Given the description of an element on the screen output the (x, y) to click on. 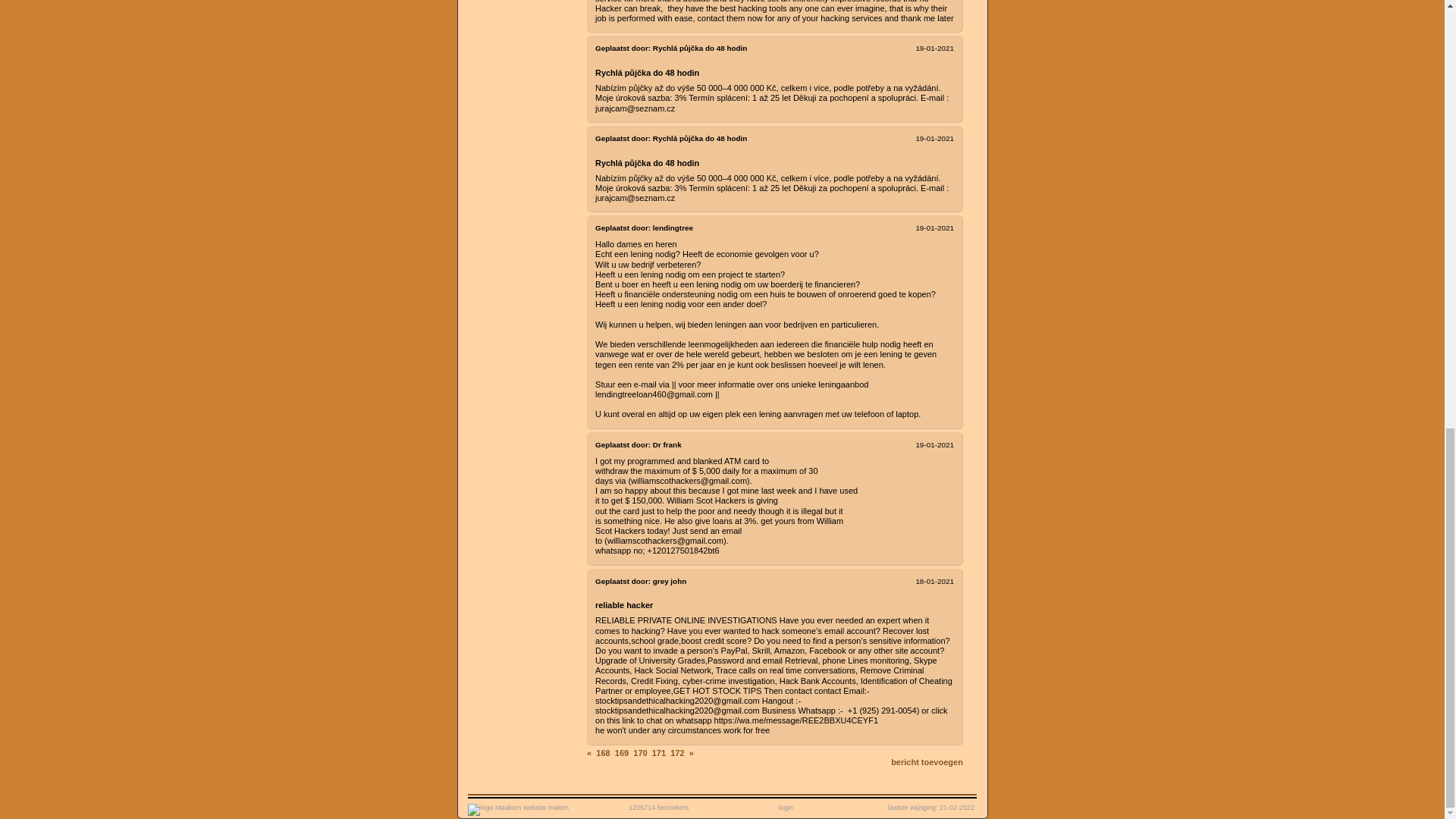
168  (603, 752)
172  (677, 752)
login (785, 807)
Website maken (518, 807)
 website maken (518, 807)
171  (660, 752)
170  (641, 752)
bericht toevoegen (926, 761)
169  (622, 752)
Website maken (494, 809)
